Given the description of an element on the screen output the (x, y) to click on. 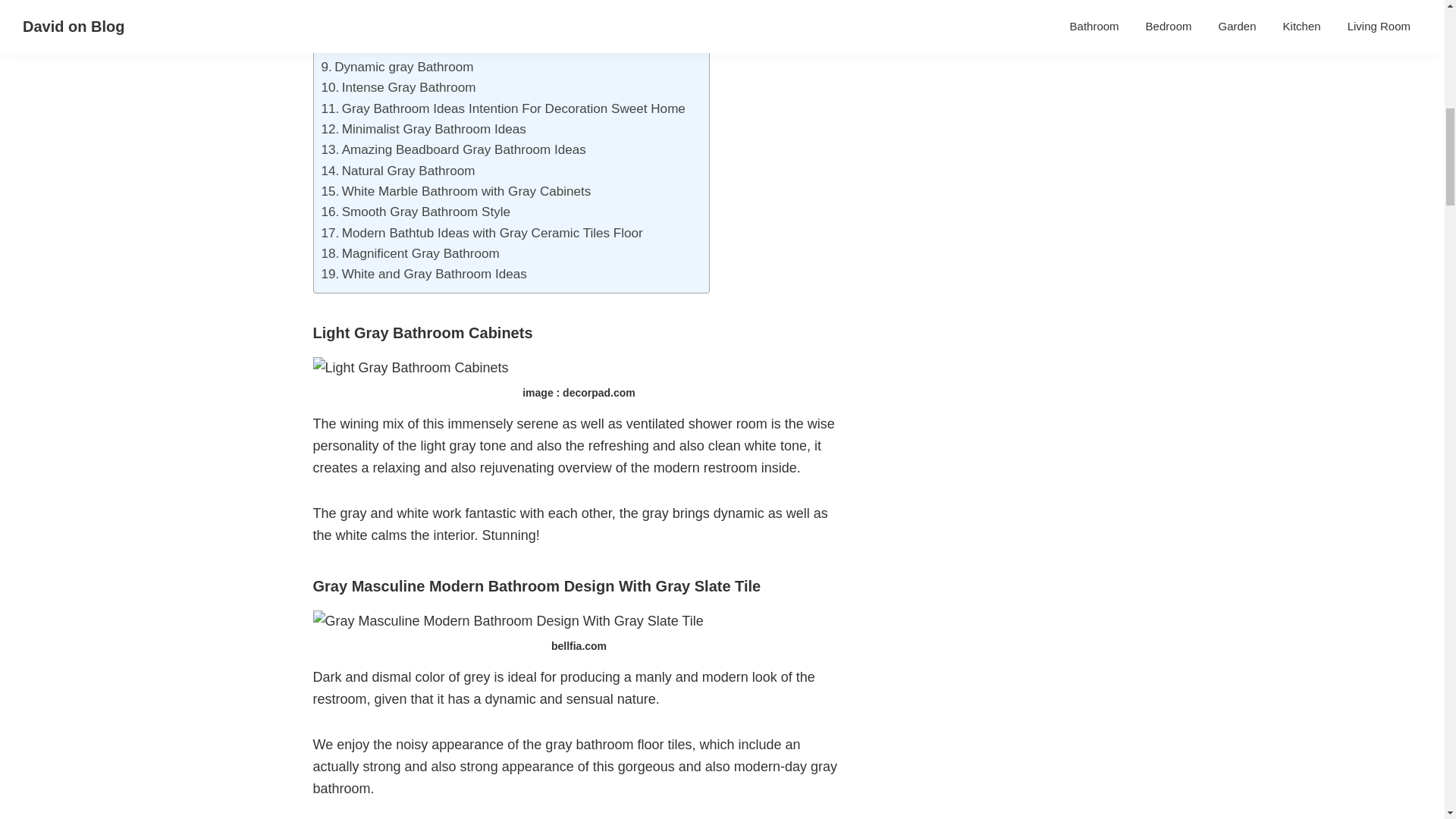
White and Gray Bathroom Ideas (424, 273)
Amazing Beadboard Gray Bathroom Ideas (453, 149)
Natural Gray Bathroom (398, 170)
Modern Gray Bathroom Vanities For Less (447, 25)
Distinctive Gray Bathroom (402, 46)
Minimalist Gray Bathroom Ideas (423, 128)
Magnificent Gray Bathroom (410, 253)
Amazing Beadboard Gray Bathroom Ideas (453, 149)
Smooth Gray Bathroom Style (416, 211)
Gray Bathroom Ideas Intention For Decoration Sweet Home (503, 108)
